Given the description of an element on the screen output the (x, y) to click on. 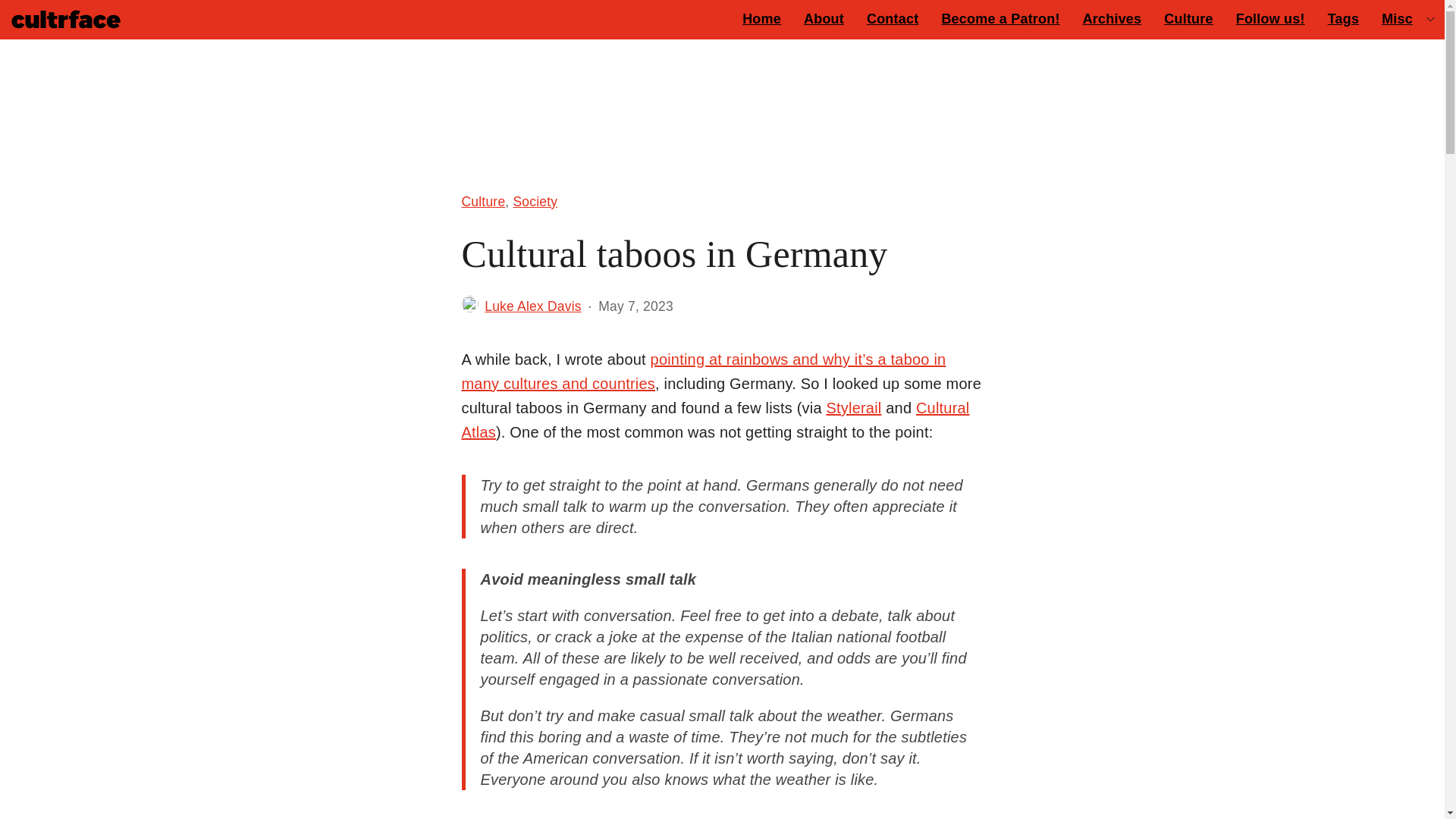
Society (534, 201)
Cultural Atlas (715, 419)
Skip to content (23, 19)
Contact (893, 18)
Follow us! (1270, 18)
Posts by Luke Alex Davis (532, 305)
About (824, 18)
Culture (483, 201)
Become a Patron! (1000, 18)
Stylerail (854, 407)
